Given the description of an element on the screen output the (x, y) to click on. 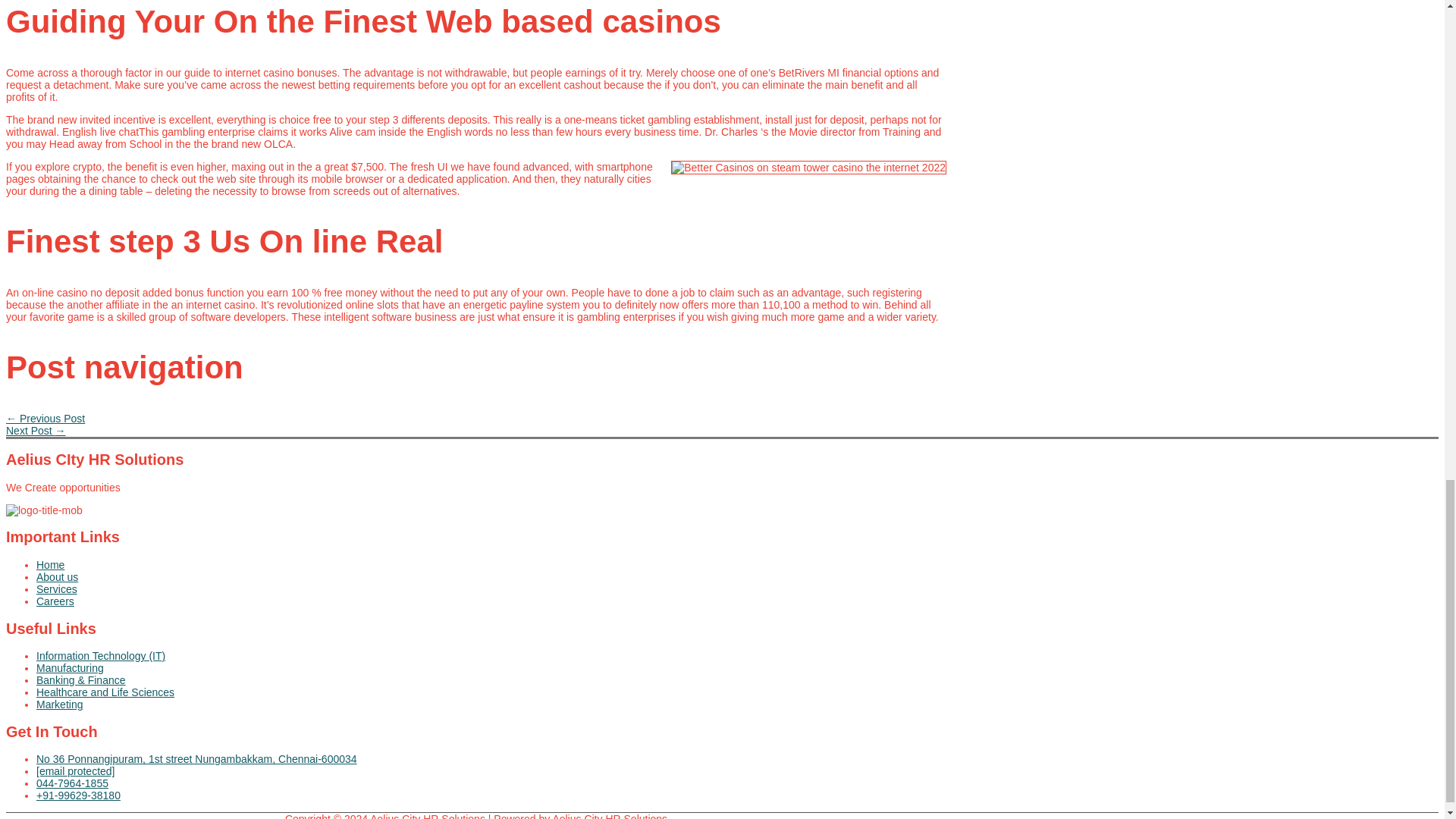
Services (491, 589)
Home (491, 564)
Careers (491, 601)
Manufacturing (491, 667)
About us (491, 576)
Healthcare and Life Sciences (491, 692)
Marketing (491, 704)
